Given the description of an element on the screen output the (x, y) to click on. 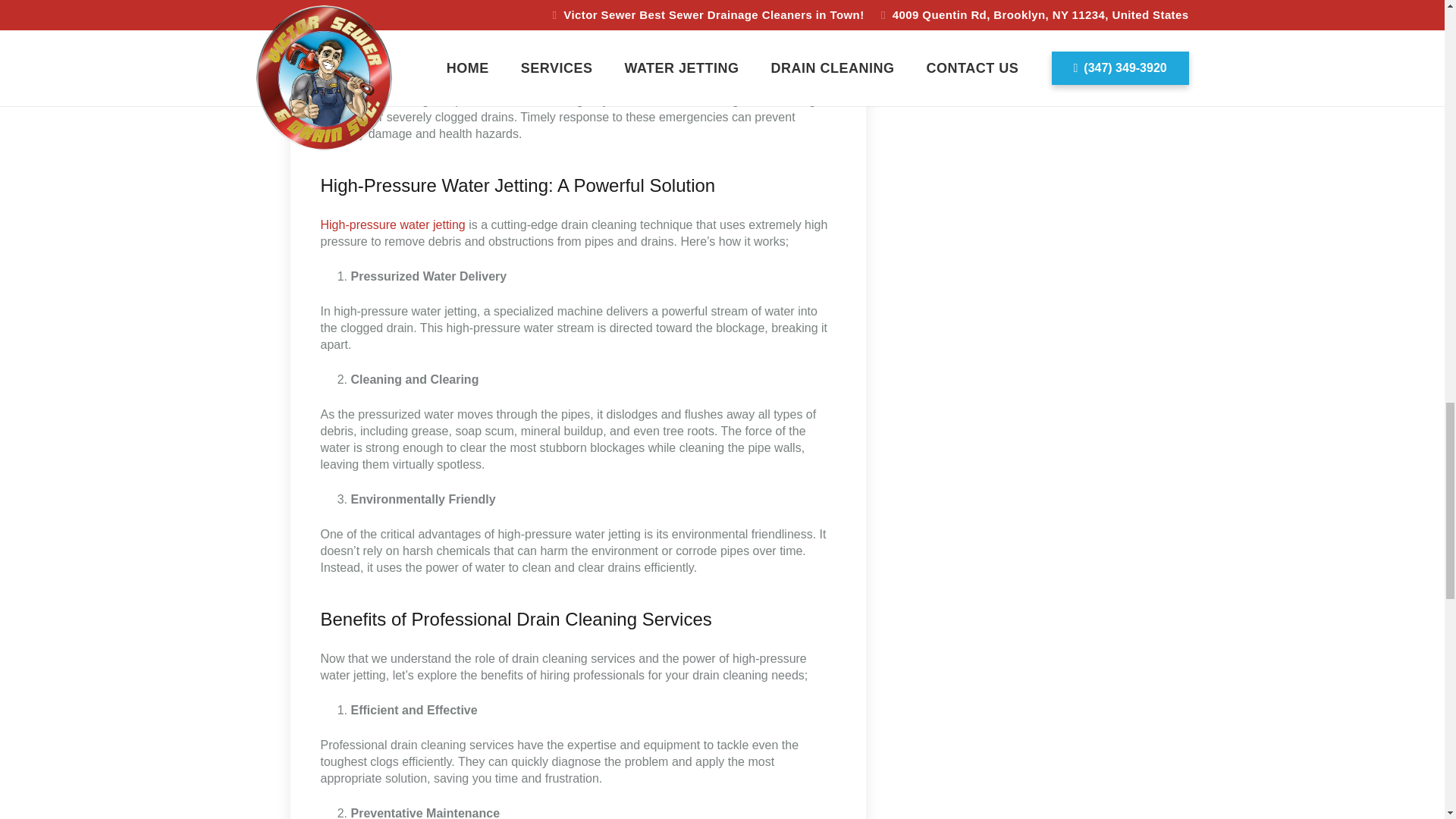
High-pressure water jetting (392, 224)
